Given the description of an element on the screen output the (x, y) to click on. 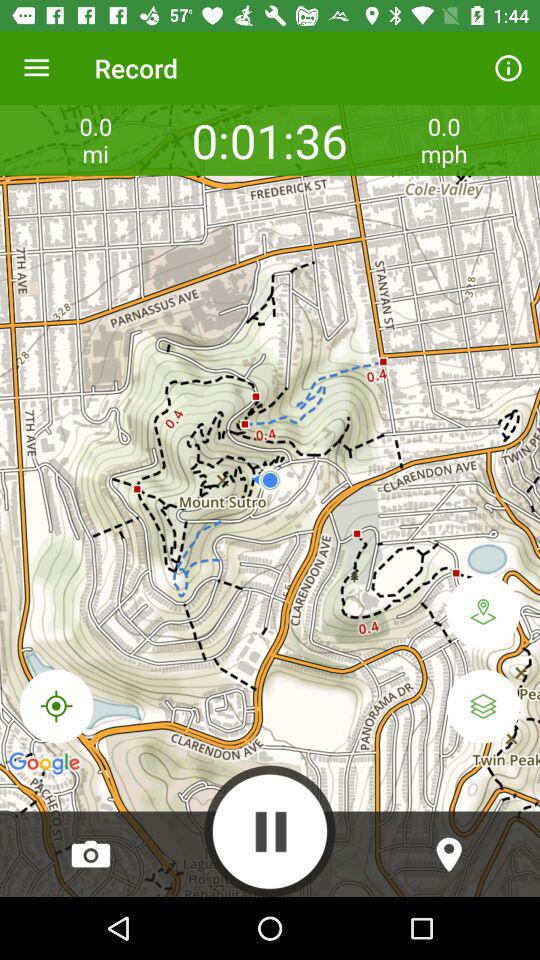
select information symbol which is on the top right corner (508, 68)
